Given the description of an element on the screen output the (x, y) to click on. 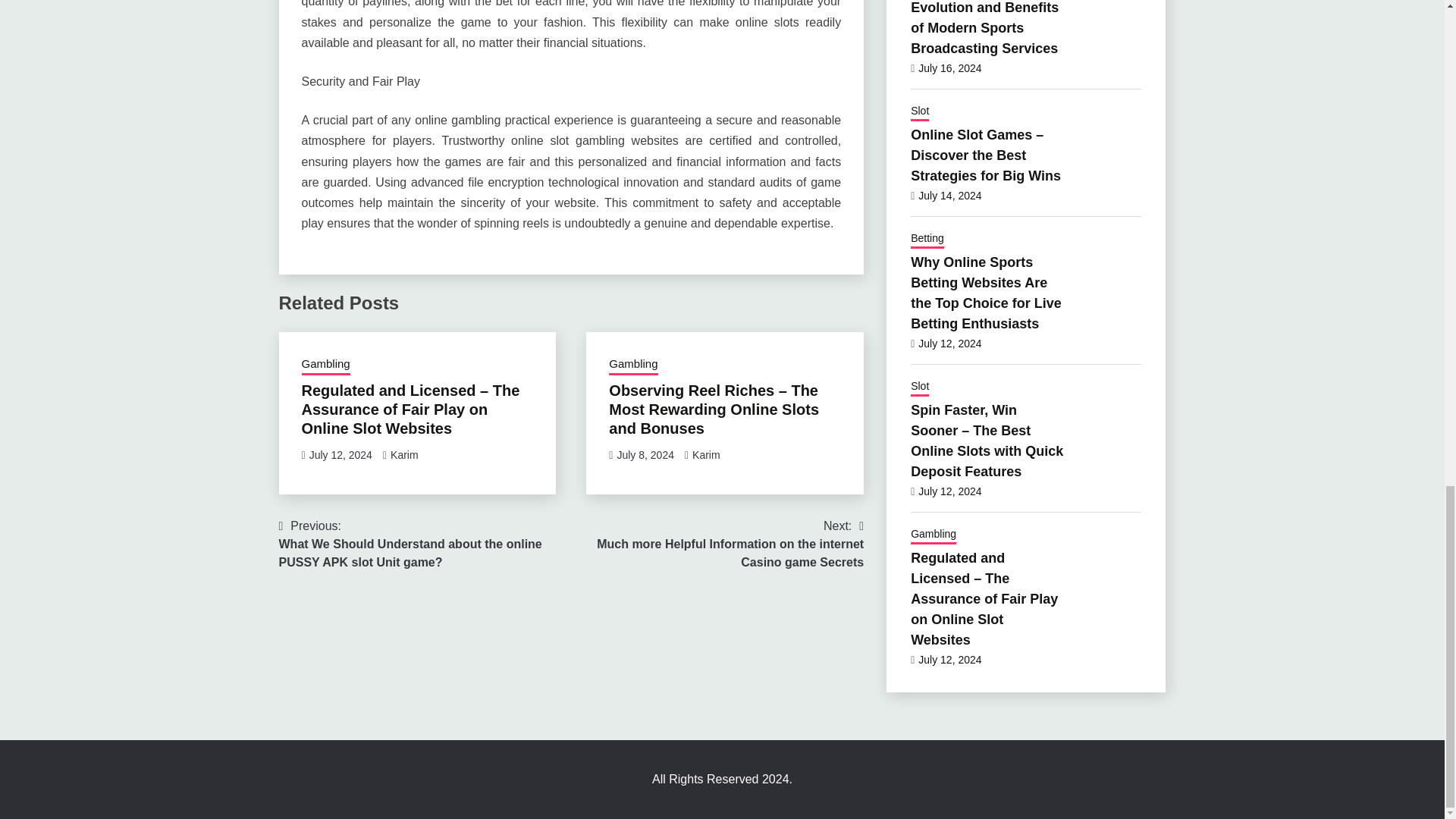
July 12, 2024 (340, 454)
Karim (404, 454)
July 8, 2024 (644, 454)
Gambling (633, 365)
Karim (706, 454)
Gambling (325, 365)
